Given the description of an element on the screen output the (x, y) to click on. 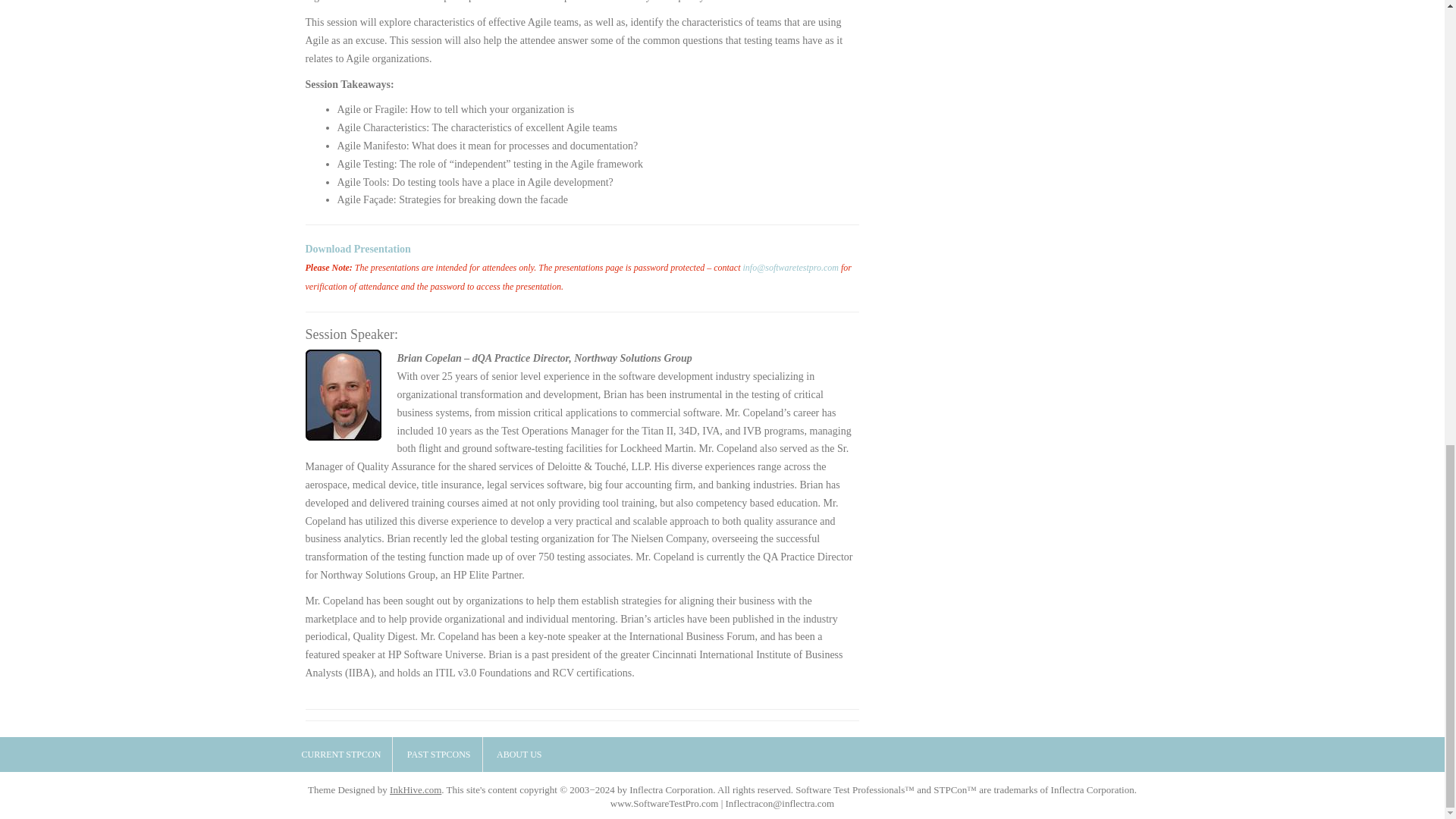
ABOUT US (518, 754)
Download Presentation (357, 248)
CURRENT STPCON (341, 754)
PAST STPCONS (438, 754)
InkHive.com (415, 789)
